Given the description of an element on the screen output the (x, y) to click on. 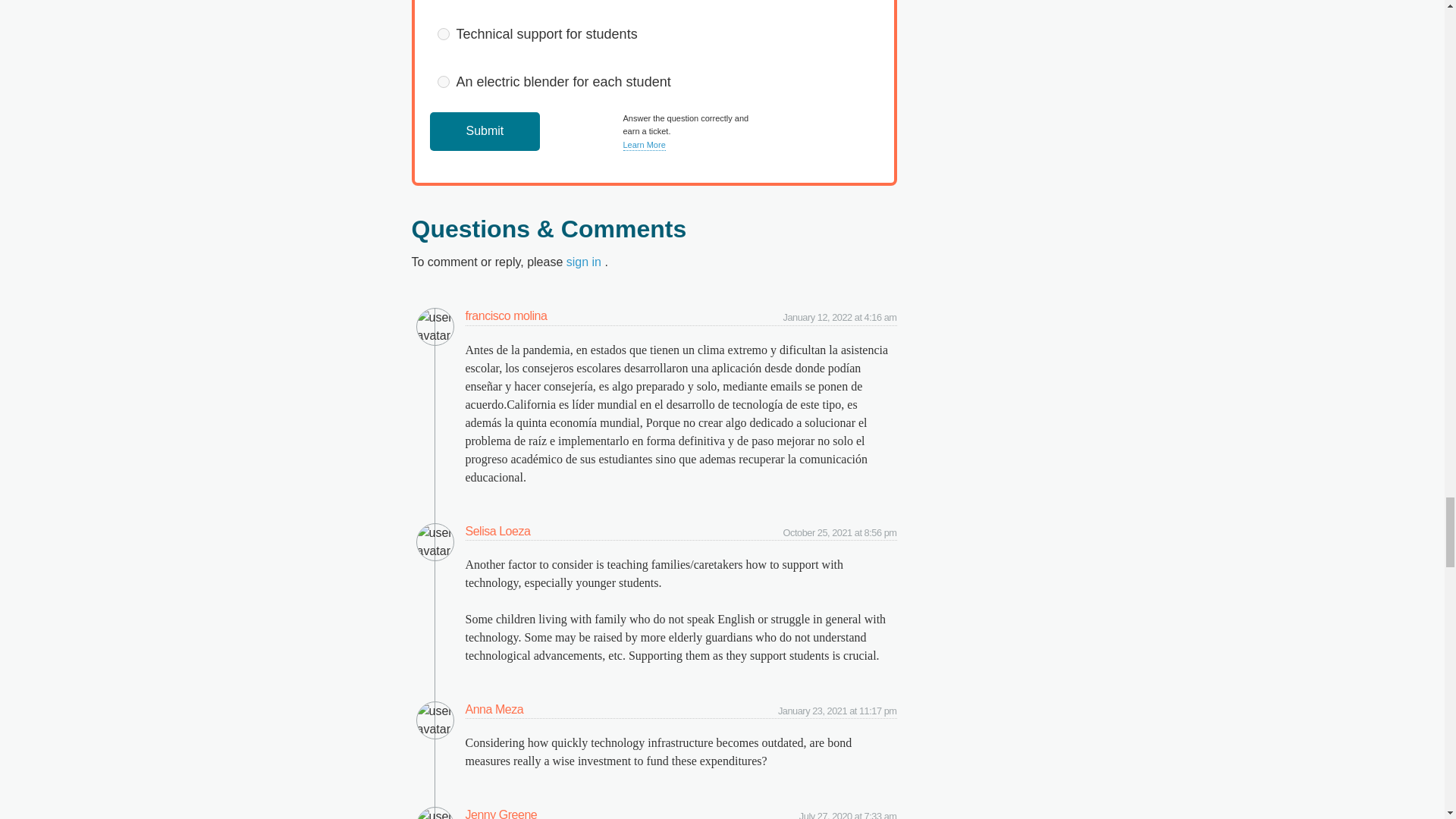
198 (442, 33)
199 (442, 81)
